Given the description of an element on the screen output the (x, y) to click on. 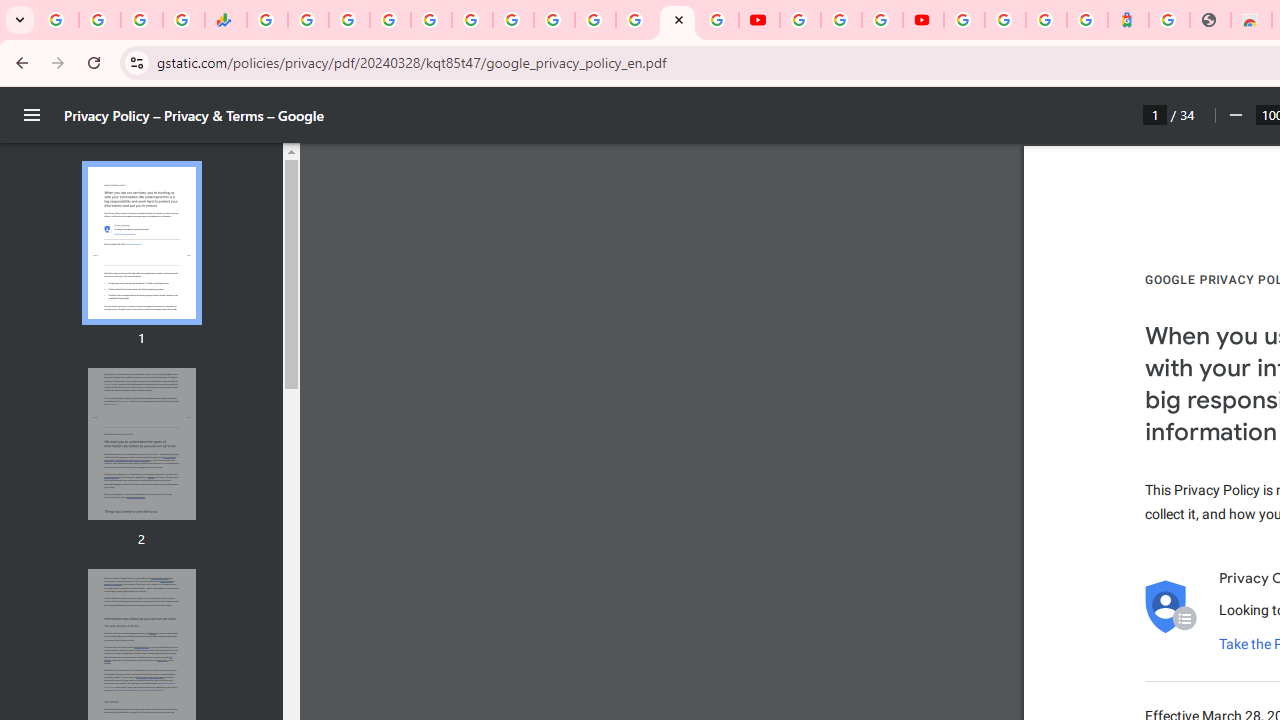
Google Workspace Admin Community (58, 20)
Content Creator Programs & Opportunities - YouTube Creators (923, 20)
Google Account Help (840, 20)
Thumbnail for page 2 (141, 444)
Sign in - Google Accounts (1005, 20)
YouTube (758, 20)
Sign in - Google Accounts (594, 20)
